Given the description of an element on the screen output the (x, y) to click on. 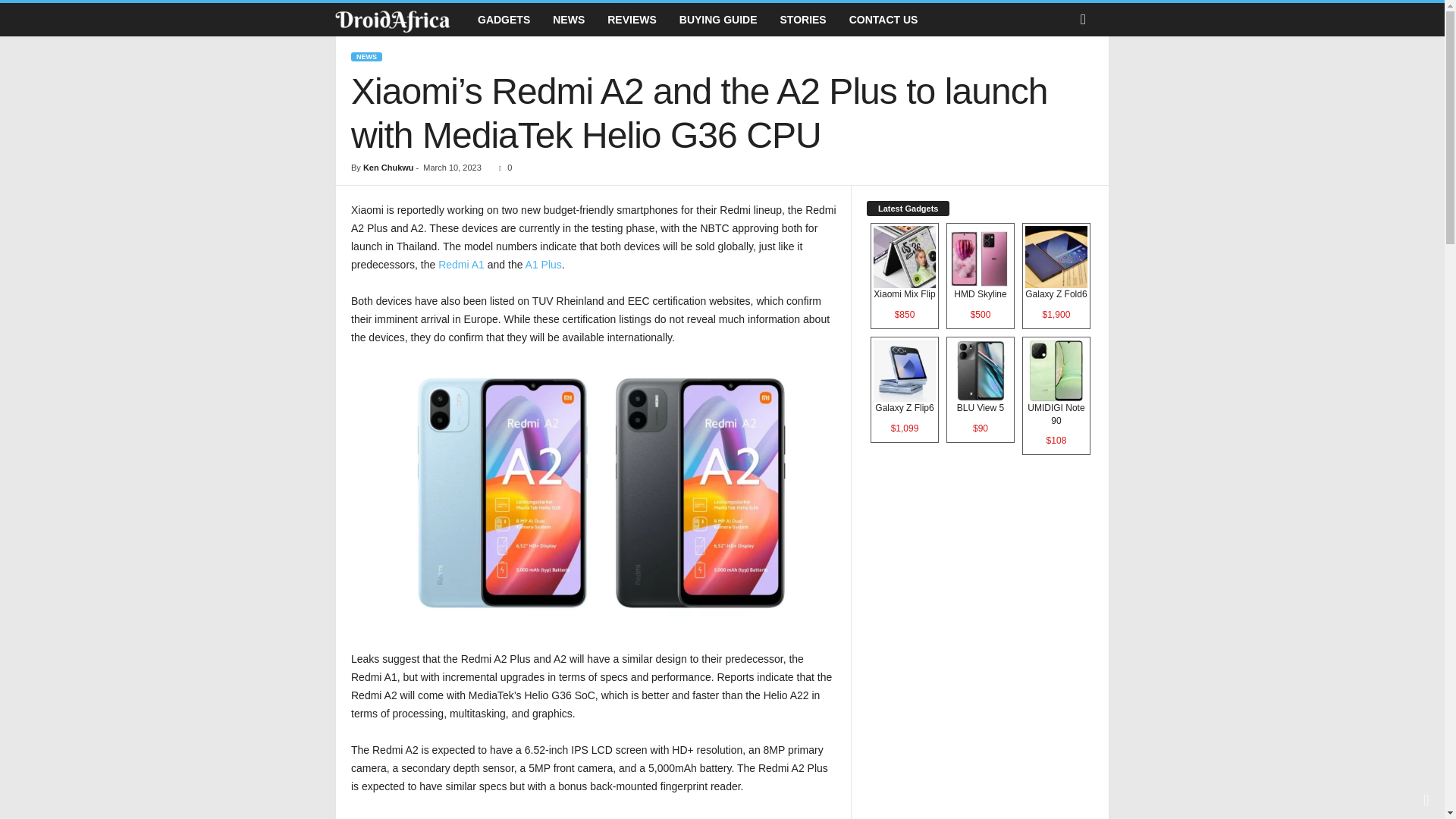
Xiaomi Redmi A2 6976057 1024x538 (592, 492)
A1 Plus (541, 264)
NEWS (568, 19)
DroidAfrica (399, 19)
Redmi A1 (461, 264)
STORIES (803, 19)
CONTACT US (884, 19)
0 (502, 166)
Ken Chukwu (387, 166)
GADGETS (503, 19)
NEWS (365, 56)
BUYING GUIDE (718, 19)
Tech News, Specs, Unboxing and Reviews (391, 19)
REVIEWS (631, 19)
